Given the description of an element on the screen output the (x, y) to click on. 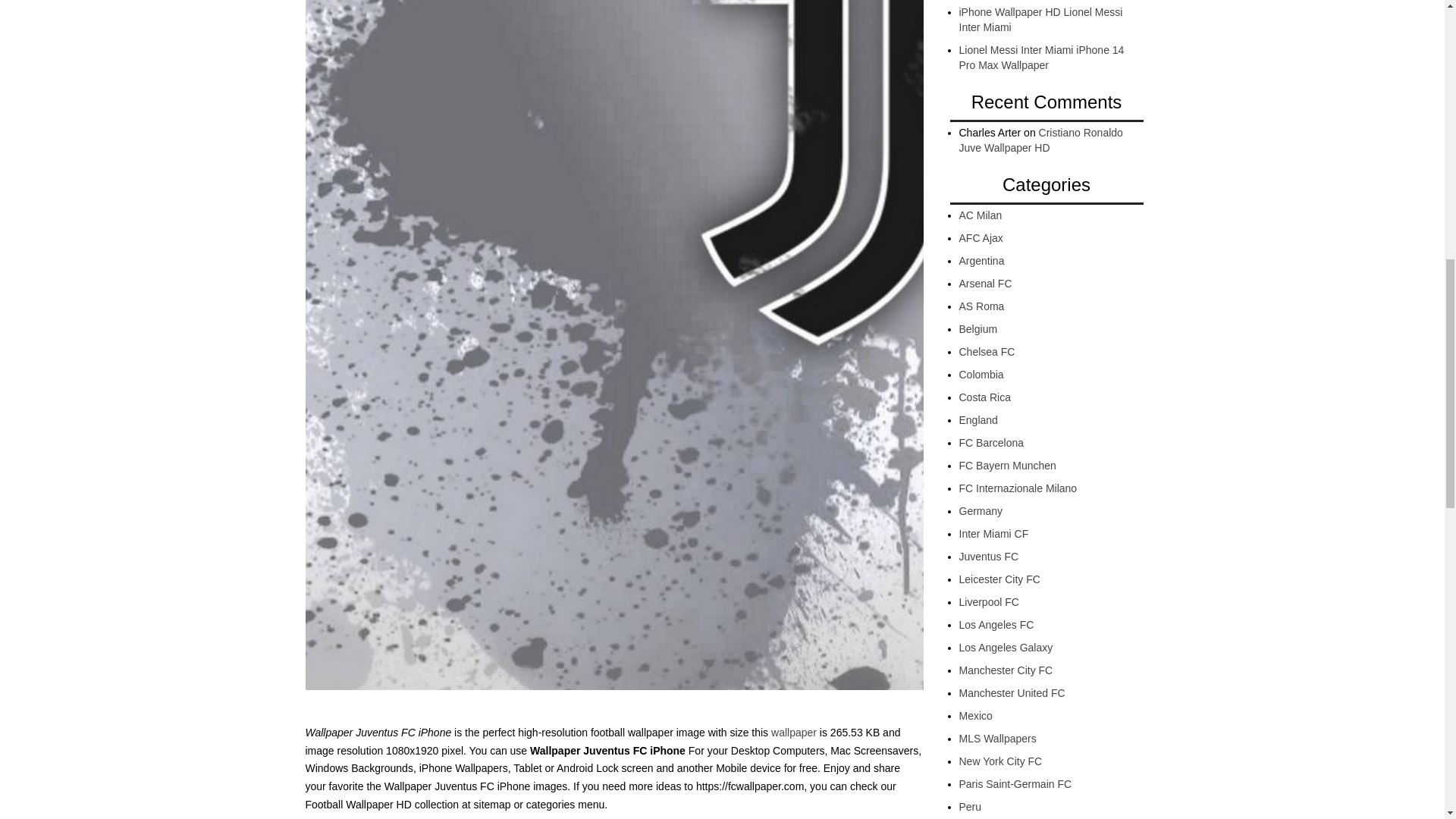
wallpaper (793, 732)
